Given the description of an element on the screen output the (x, y) to click on. 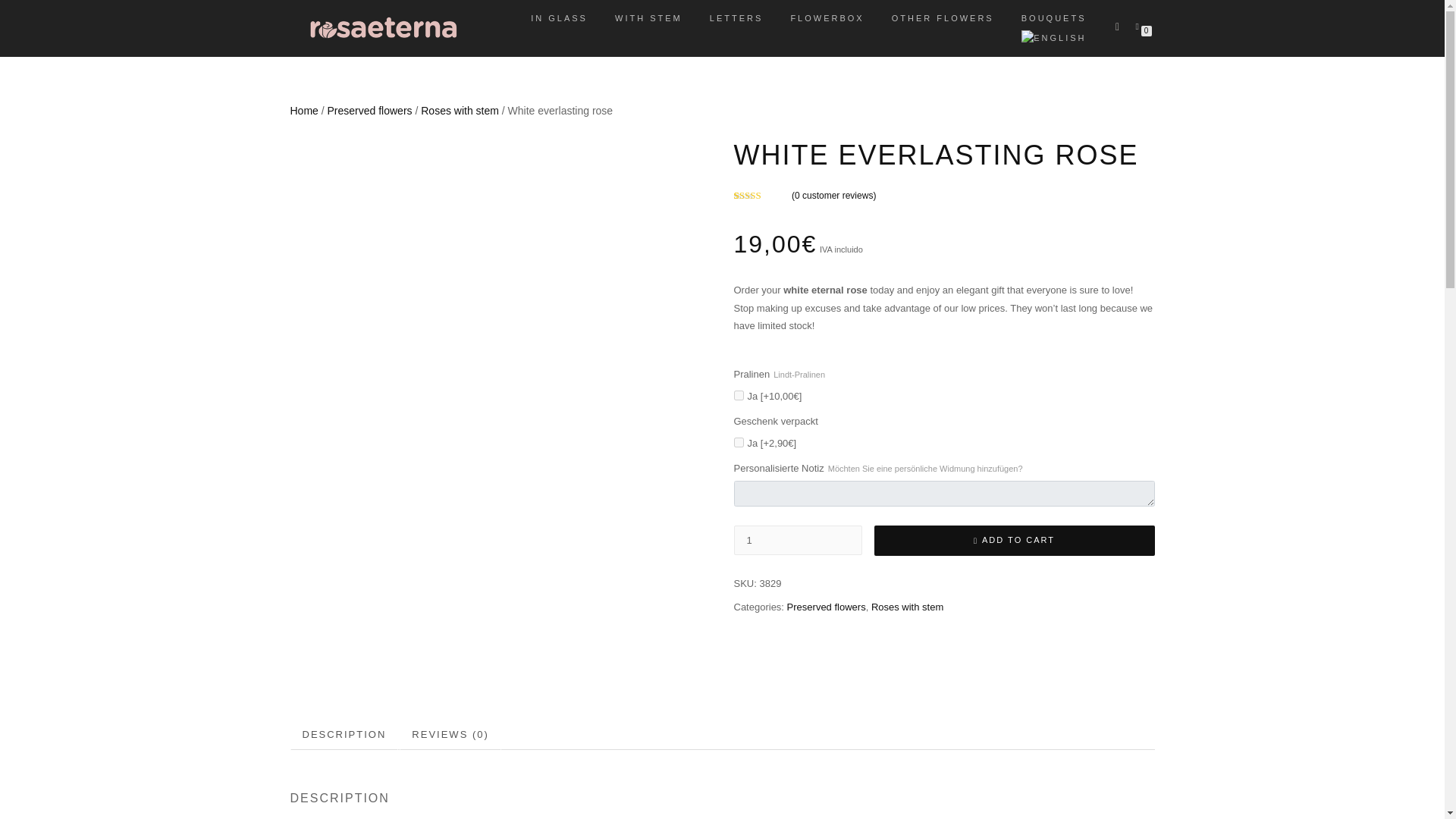
FLOWERBOX (826, 17)
Preserved flowers (369, 110)
BOUQUETS (1053, 17)
Ja (738, 395)
0 (1139, 25)
Roses with stem (906, 606)
Ja (738, 442)
1 (798, 540)
DESCRIPTION (343, 735)
ADD TO CART (1013, 540)
